Given the description of an element on the screen output the (x, y) to click on. 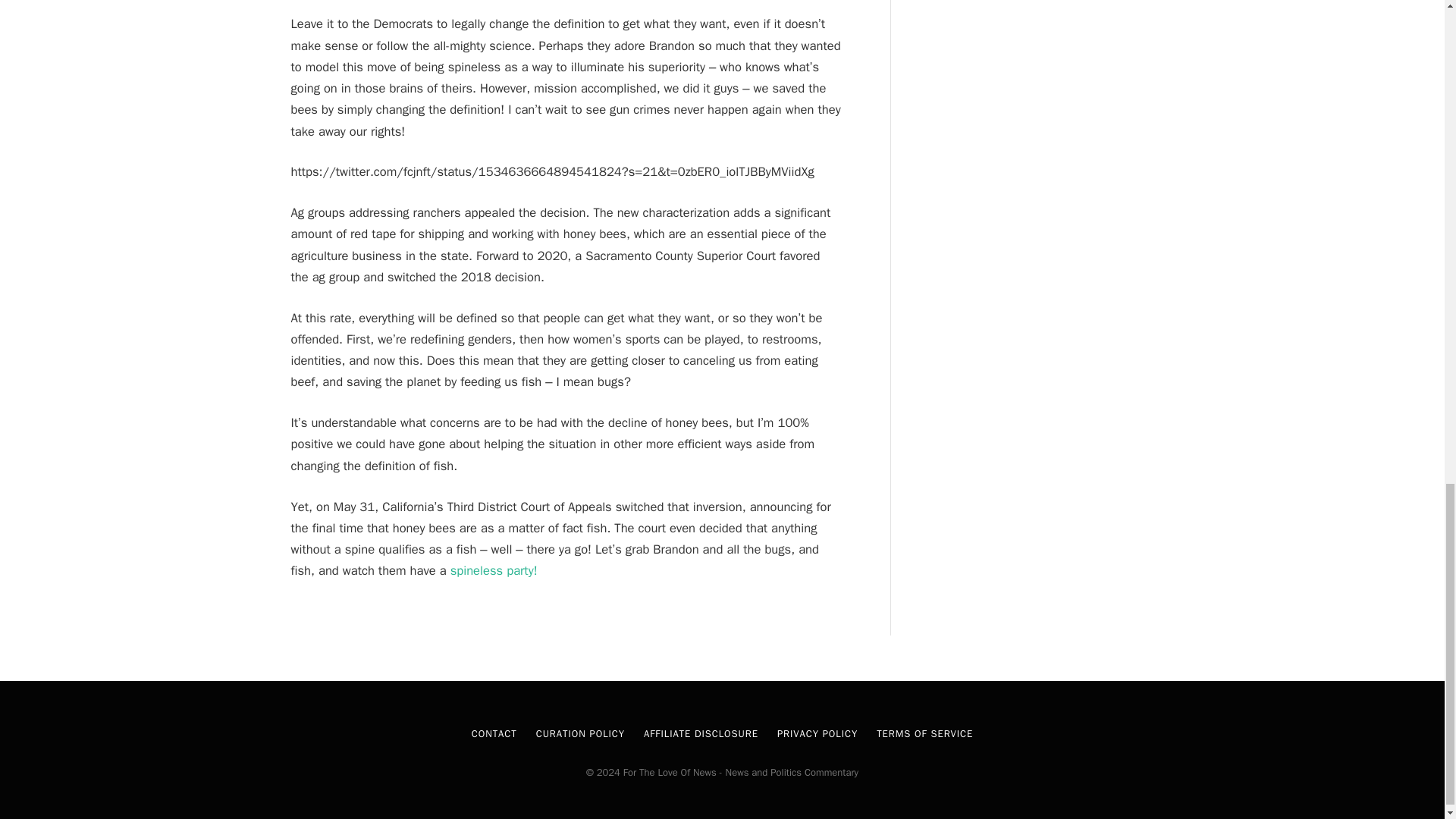
spineless party! (493, 570)
PRIVACY POLICY (817, 733)
AFFILIATE DISCLOSURE (700, 733)
CURATION POLICY (579, 733)
CONTACT (493, 733)
TERMS OF SERVICE (924, 733)
